Given the description of an element on the screen output the (x, y) to click on. 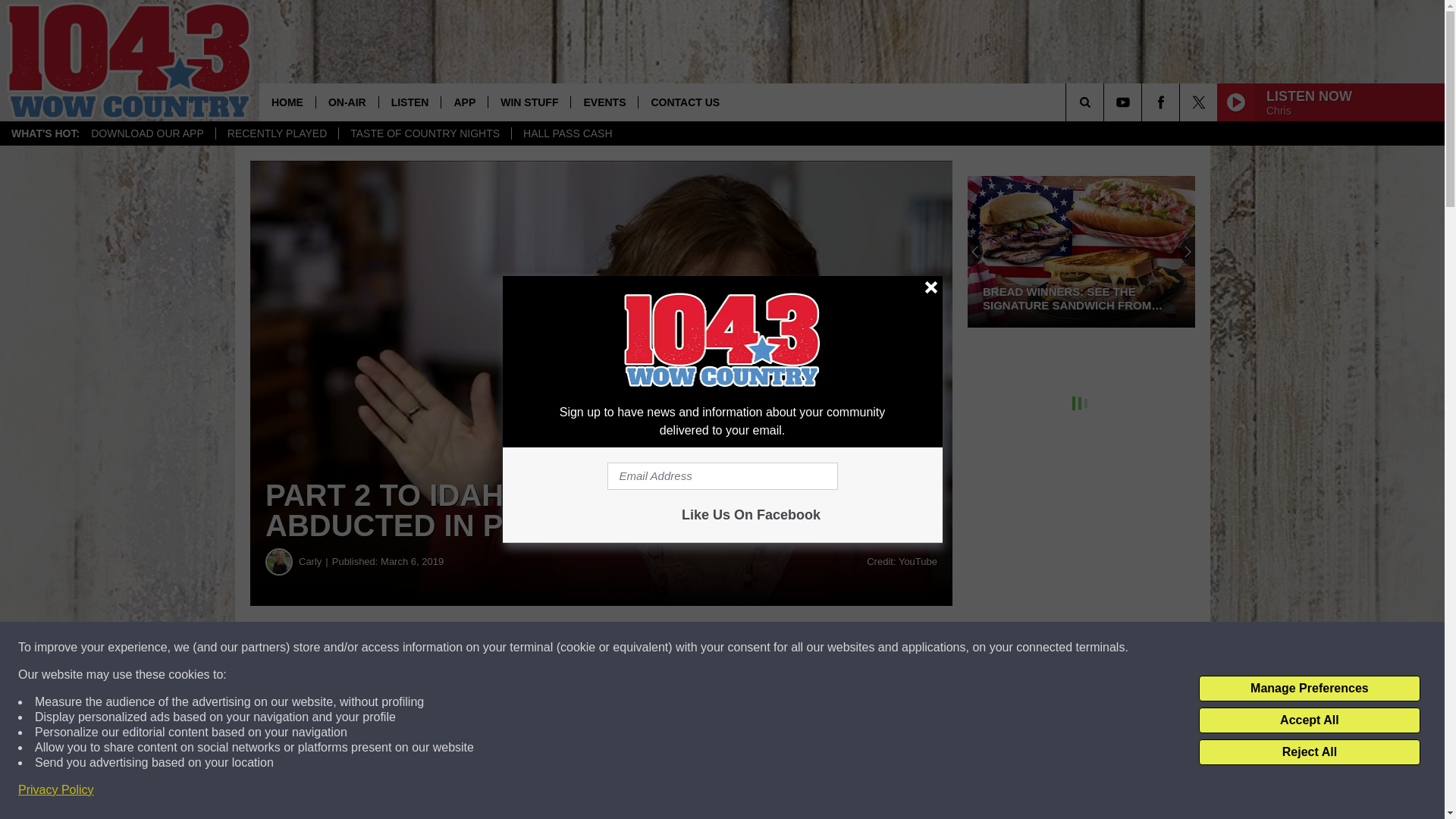
RECENTLY PLAYED (277, 133)
ON-AIR (346, 102)
EVENTS (603, 102)
Share on Facebook (460, 647)
WIN STUFF (528, 102)
LISTEN (409, 102)
APP (464, 102)
Manage Preferences (1309, 688)
Privacy Policy (55, 789)
Accept All (1309, 720)
HOME (287, 102)
Reject All (1309, 751)
HALL PASS CASH (567, 133)
Share on Twitter (741, 647)
SEARCH (1106, 102)
